Given the description of an element on the screen output the (x, y) to click on. 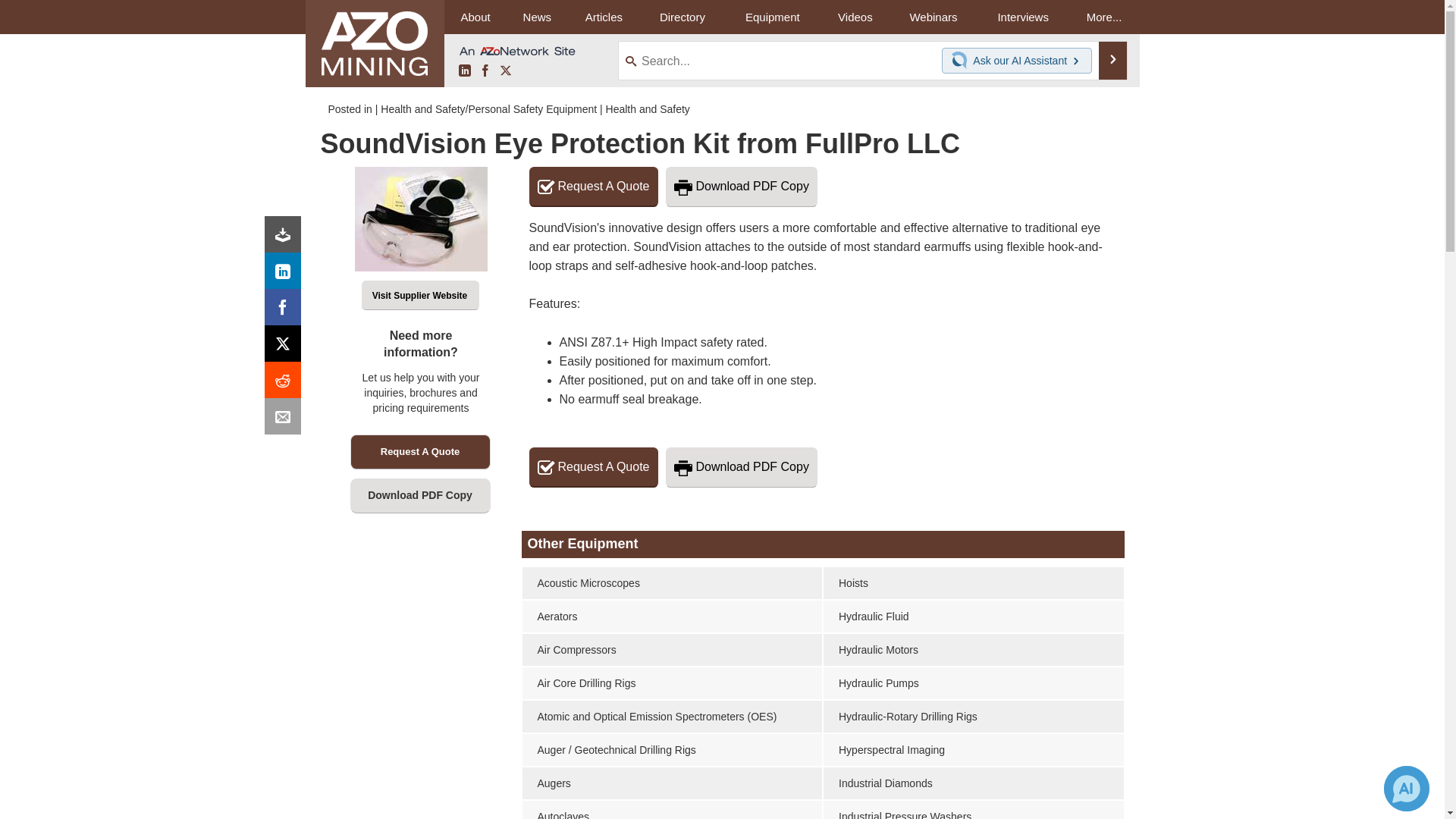
Air Compressors (671, 649)
Videos (855, 17)
Directory (681, 17)
Chat with our AI Assistant Ask our AI Assistant (1017, 60)
LinkedIn (285, 275)
Equipment (772, 17)
Augers (671, 783)
Acoustic Microscopes (671, 582)
Interviews (1022, 17)
About (475, 17)
